Given the description of an element on the screen output the (x, y) to click on. 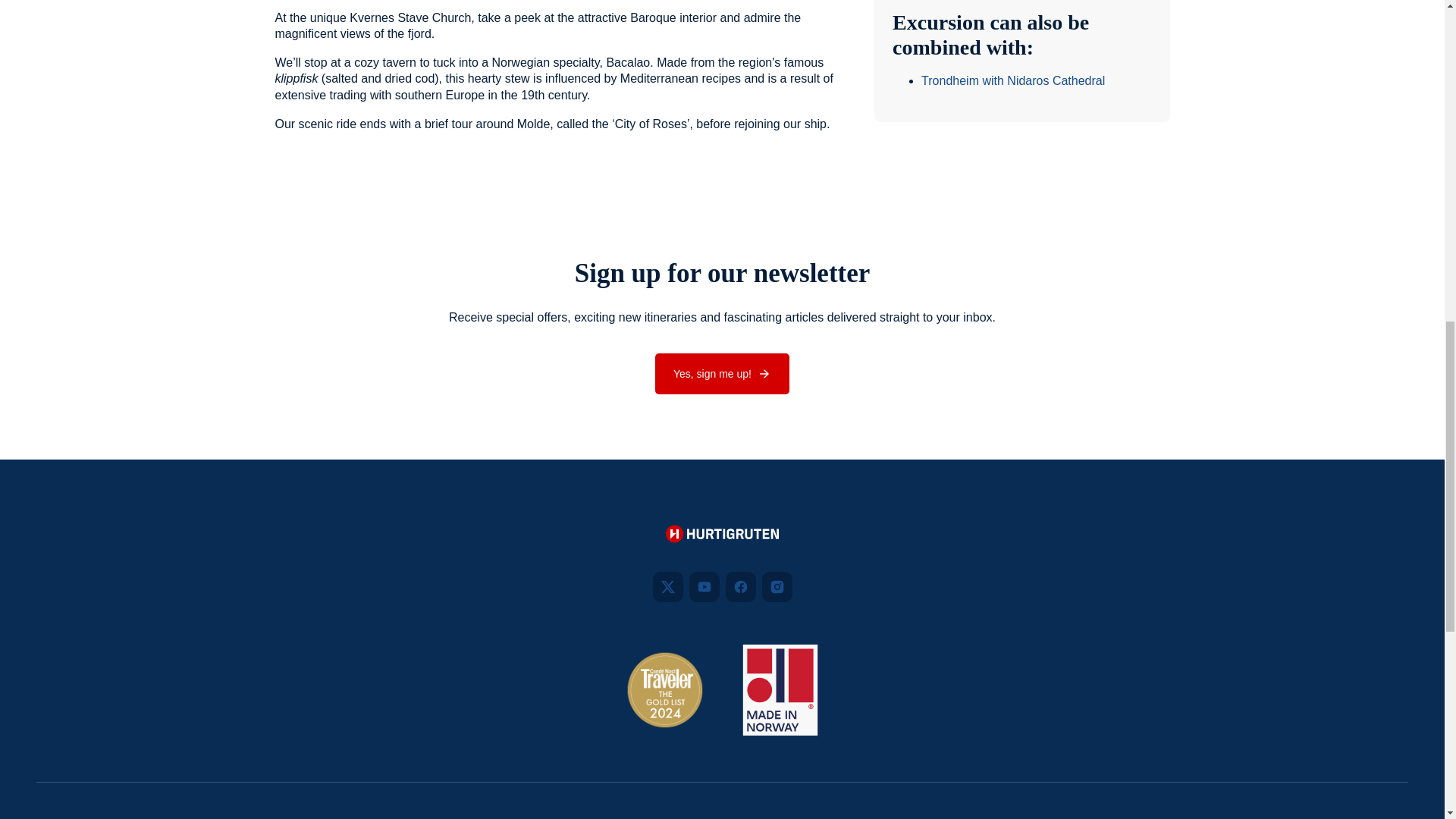
Yes, sign me up! (722, 372)
Trondheim with Nidaros Cathedral (1013, 80)
Hurtigruten (721, 535)
